Given the description of an element on the screen output the (x, y) to click on. 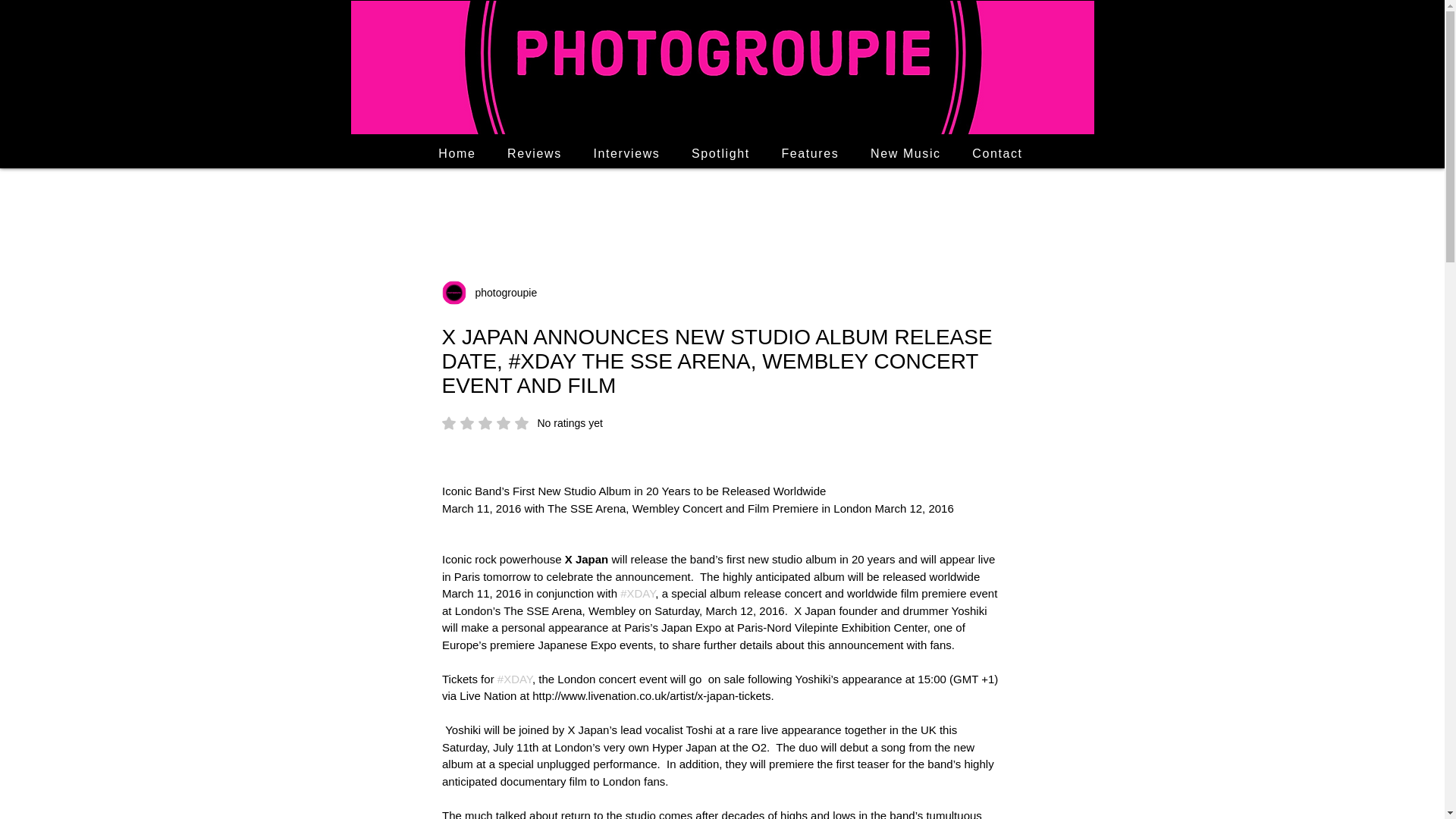
Spotlight (719, 153)
New Music (905, 153)
photogroupie (501, 293)
Features (809, 153)
Home (457, 153)
Contact (997, 153)
Interviews (521, 422)
